Given the description of an element on the screen output the (x, y) to click on. 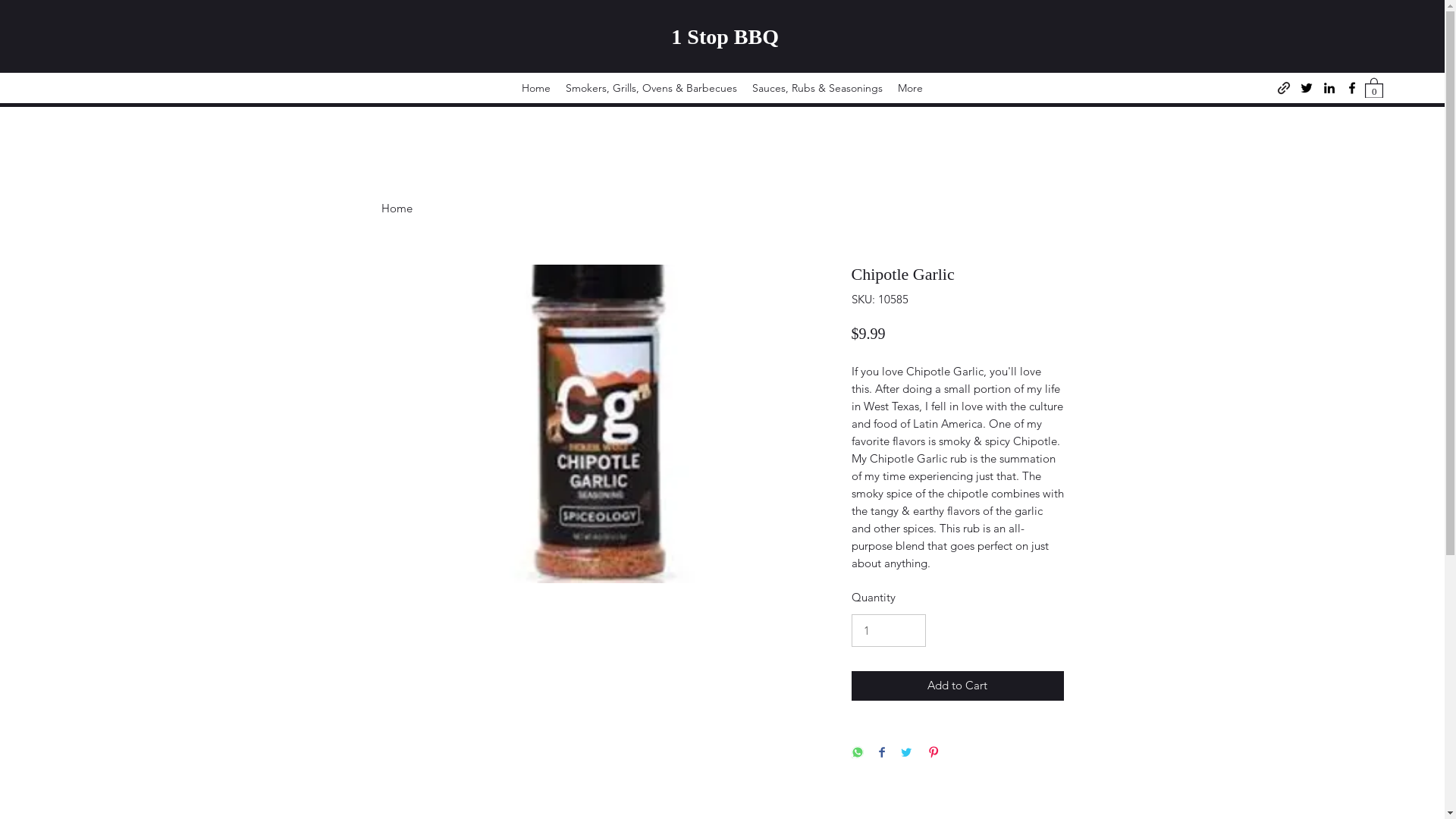
Home Element type: text (395, 207)
Add to Cart Element type: text (956, 685)
0 Element type: text (1374, 86)
Sauces, Rubs & Seasonings Element type: text (817, 86)
Smokers, Grills, Ovens & Barbecues Element type: text (651, 86)
Home Element type: text (536, 86)
1 Stop BBQ Element type: text (724, 36)
